Given the description of an element on the screen output the (x, y) to click on. 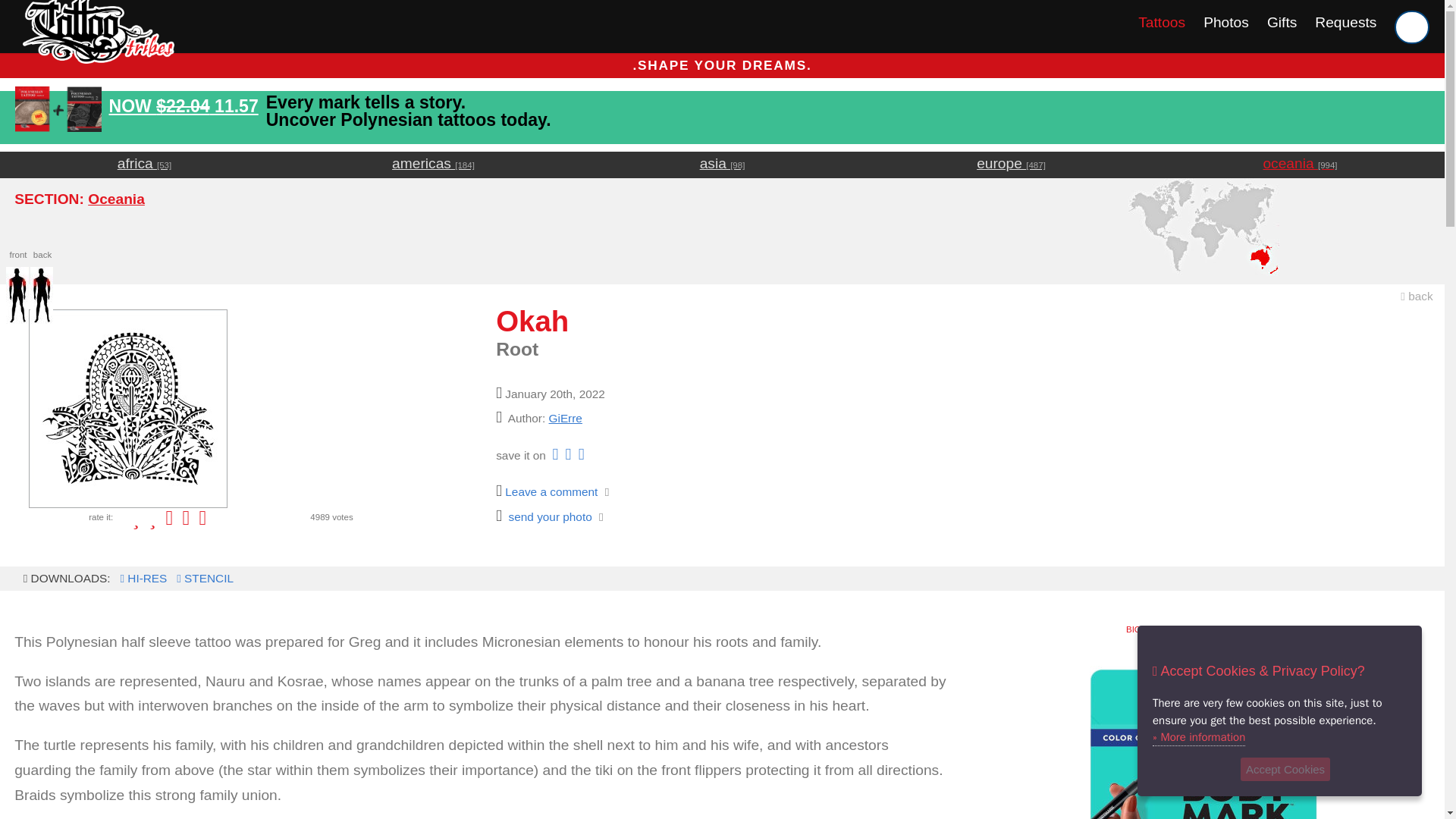
Requests (1344, 22)
Read the comments on this tattoo (546, 491)
Photos (1226, 22)
Kosrae Nauru Polynesian halfsleeve tattoo stencil (202, 577)
 Leave a comment (546, 491)
Tattoos (1161, 22)
BIC BodyMark Temporary Tattoo Marker (1202, 730)
Kosrae Nauru Polynesian halfsleeve tattoo flash (141, 577)
  send your photo (544, 516)
For professional use or plain fun (1202, 730)
